Given the description of an element on the screen output the (x, y) to click on. 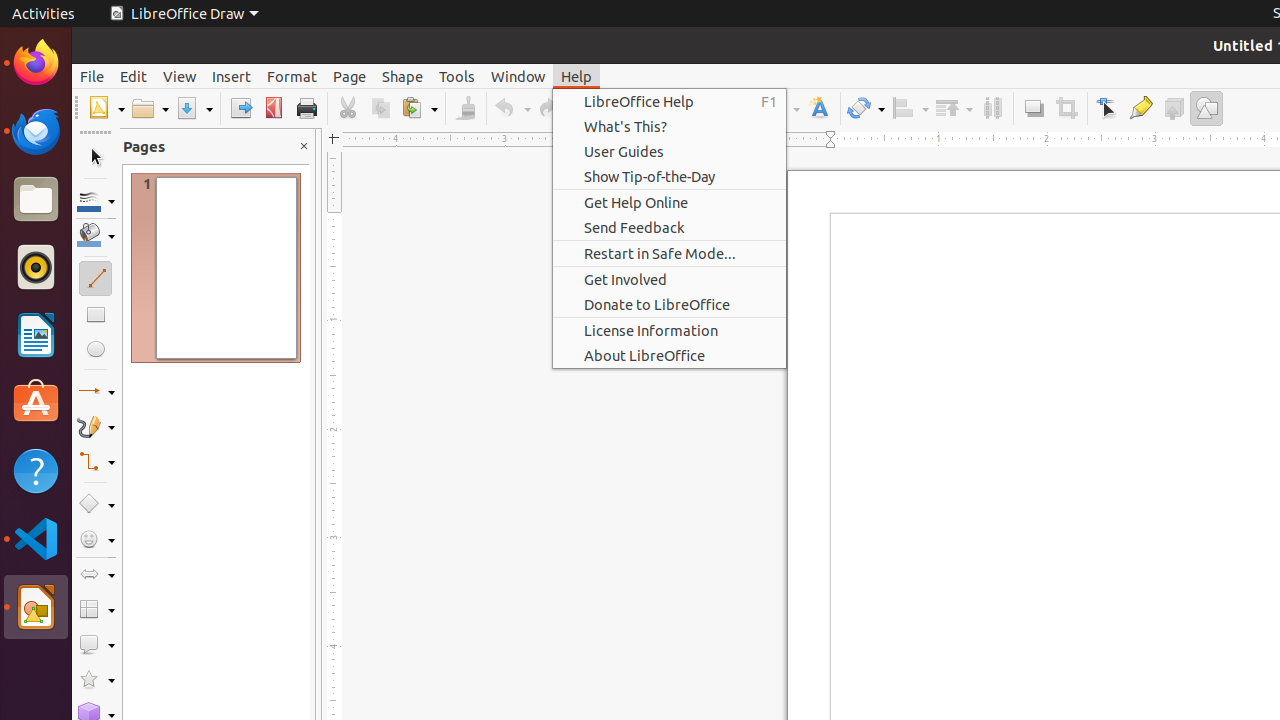
Restart in Safe Mode... Element type: menu-item (669, 253)
New Element type: push-button (106, 108)
Glue Points Element type: push-button (1140, 108)
License Information Element type: menu-item (669, 330)
